Given the description of an element on the screen output the (x, y) to click on. 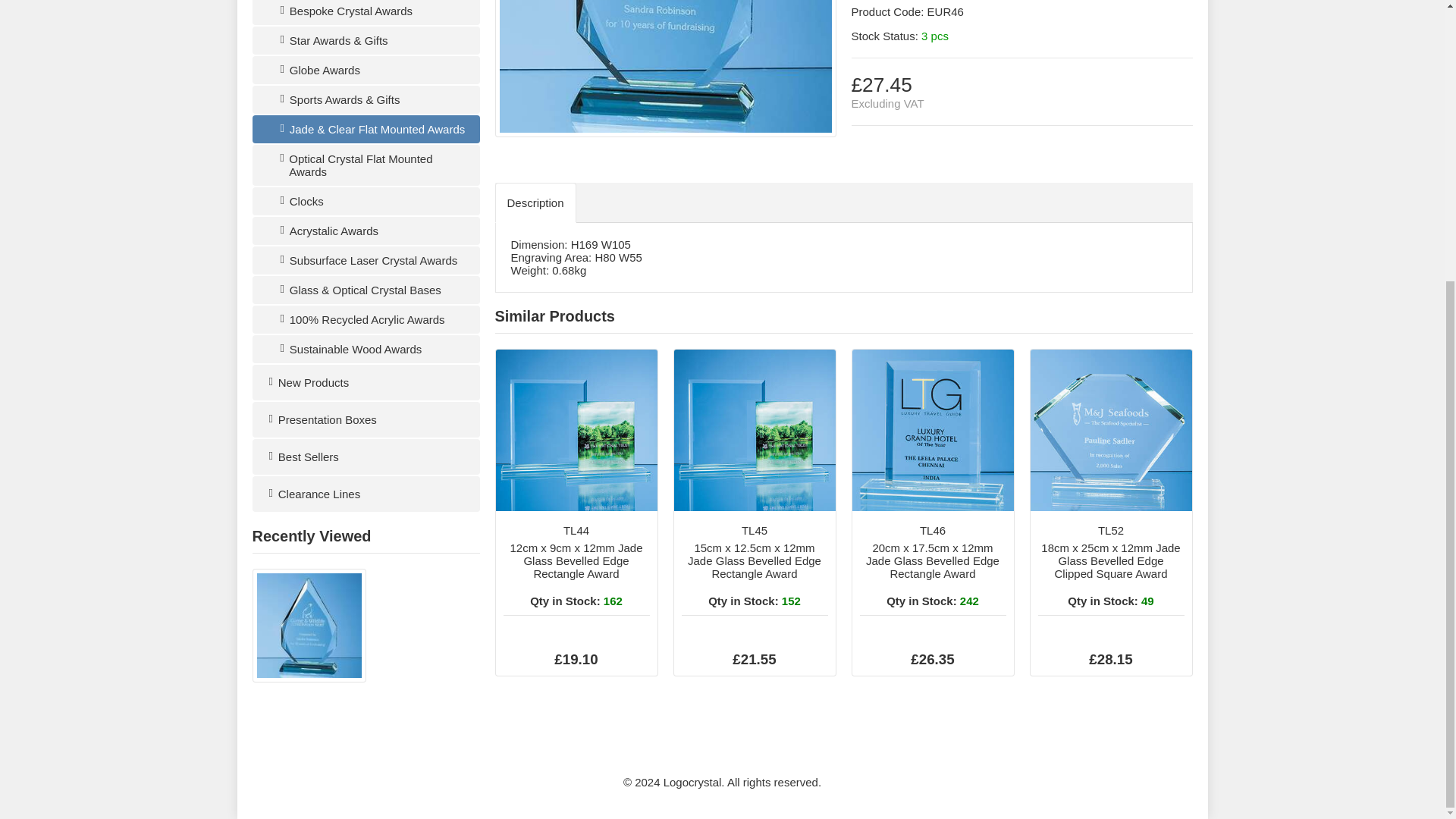
Clocks (365, 201)
Presentation Boxes (365, 419)
New Products (365, 382)
Acrystalic Awards (365, 230)
Globe Awards (365, 70)
15cm x 10.5cm x 19mm Jade Glass Facetted Diamond Peak Award (665, 66)
Best Sellers (365, 456)
Subsurface Laser Crystal Awards (365, 260)
Clearance Lines (365, 493)
Sustainable Wood Awards (365, 348)
Bespoke Crystal Awards (365, 12)
Optical Crystal Flat Mounted Awards (365, 164)
15cm x 10.5cm x 19mm Jade Glass Facetted Diamond Peak Award (308, 677)
